Given the description of an element on the screen output the (x, y) to click on. 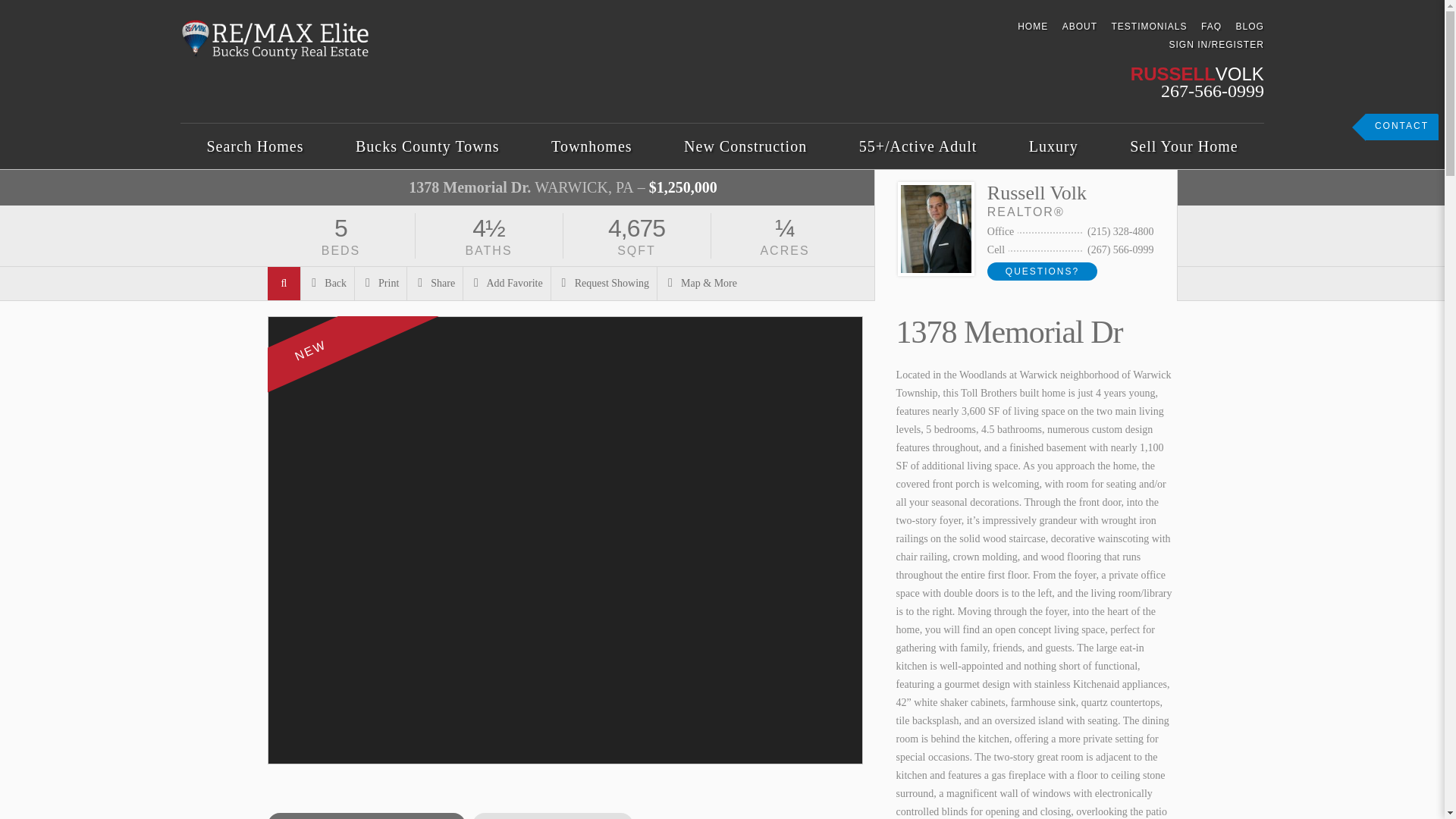
New Construction (745, 145)
CONTACT (1401, 126)
TESTIMONIALS (1148, 26)
ABOUT (1079, 26)
HOME (1032, 26)
Townhomes (591, 145)
FAQ (1211, 26)
BLOG (1249, 26)
267-566-0999 (1211, 90)
Bucks County Towns (427, 145)
Search Homes (255, 145)
